Given the description of an element on the screen output the (x, y) to click on. 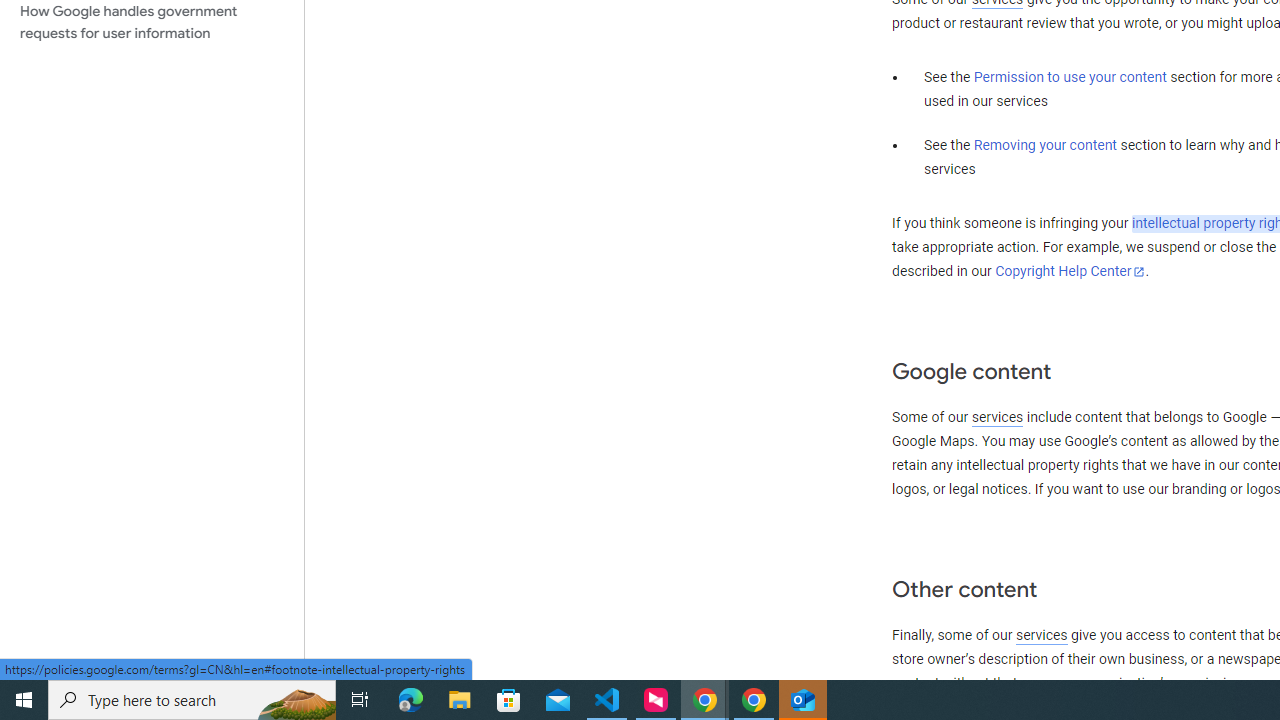
Copyright Help Center (1069, 271)
services (1041, 635)
Permission to use your content (1069, 78)
Removing your content (1044, 145)
